Given the description of an element on the screen output the (x, y) to click on. 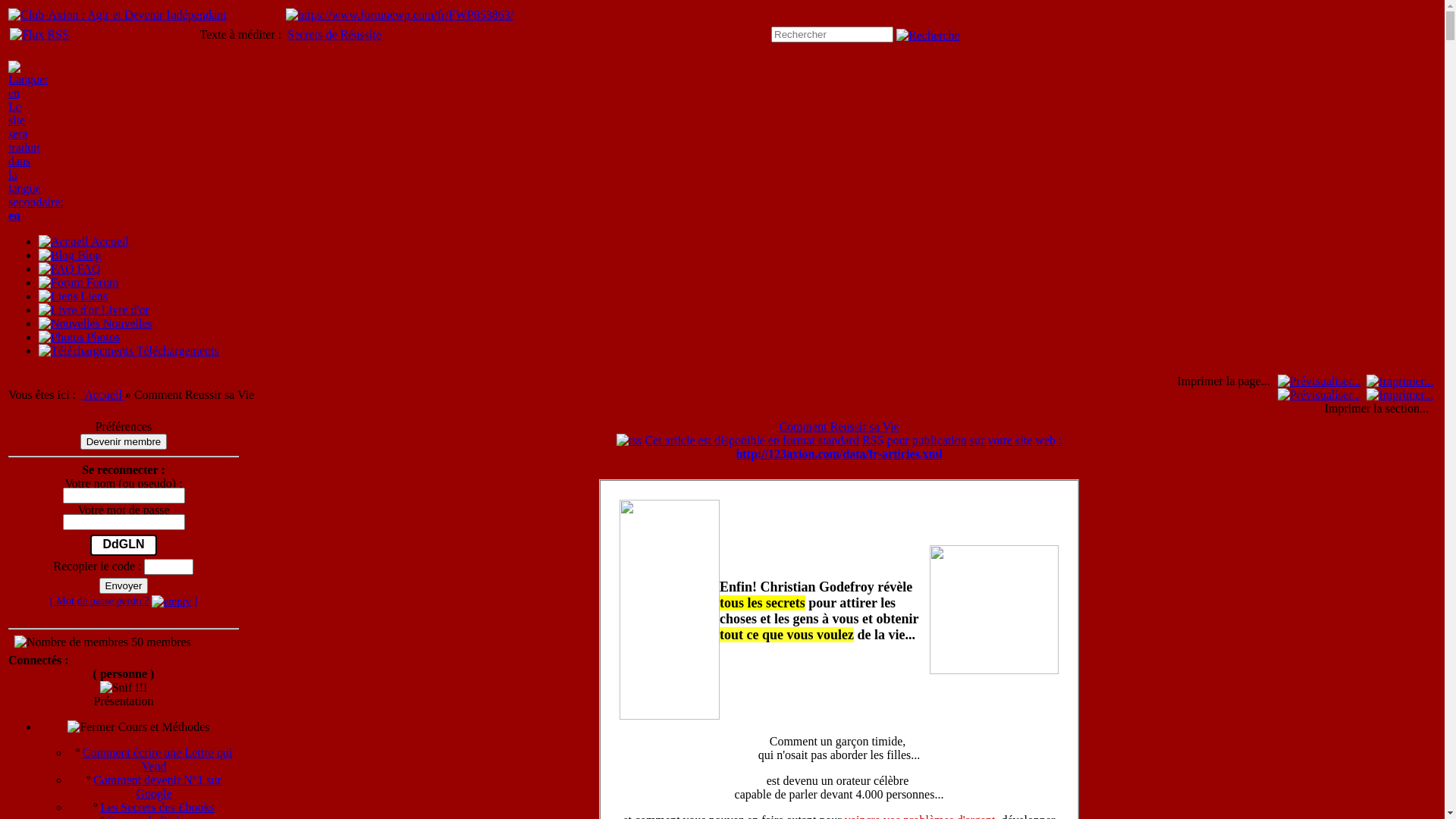
Accueil Element type: text (103, 394)
Forum Element type: hover (60, 282)
Le site sera traduit dans la langue secondaire: en Element type: text (35, 147)
Livre d'or Element type: hover (68, 309)
Accueil Element type: text (83, 241)
Livre d'or Element type: text (93, 309)
Imprimer... Element type: hover (1399, 394)
Fermer Element type: hover (90, 727)
Les Secrets des Ebooks Element type: text (157, 806)
Forum Element type: text (78, 282)
https://www.fortunewp.com/fr/FWP853863/ Element type: hover (399, 14)
Flux RSS Element type: hover (39, 33)
Envoyer Element type: text (123, 585)
Devenir membre Element type: text (123, 441)
Accueil Element type: hover (63, 241)
FAQ Element type: text (69, 268)
Nouvelles Element type: hover (69, 323)
[ Mot de passe perdu ? ] Element type: text (123, 600)
https://www.fortunewp.com/fr/FWP853863/ Element type: hover (399, 14)
Imprimer... Element type: hover (1399, 381)
Nombre de membres Element type: hover (71, 642)
Photos Element type: hover (61, 337)
Blog Element type: text (69, 254)
Liens Element type: hover (58, 296)
Liens Element type: text (72, 295)
Blog Element type: hover (56, 255)
Comment Reussir sa Vie Element type: text (838, 426)
FAQ Element type: hover (56, 269)
Photos Element type: text (78, 336)
Nouvelles Element type: text (95, 322)
Snif !!! Element type: hover (123, 687)
